Given the description of an element on the screen output the (x, y) to click on. 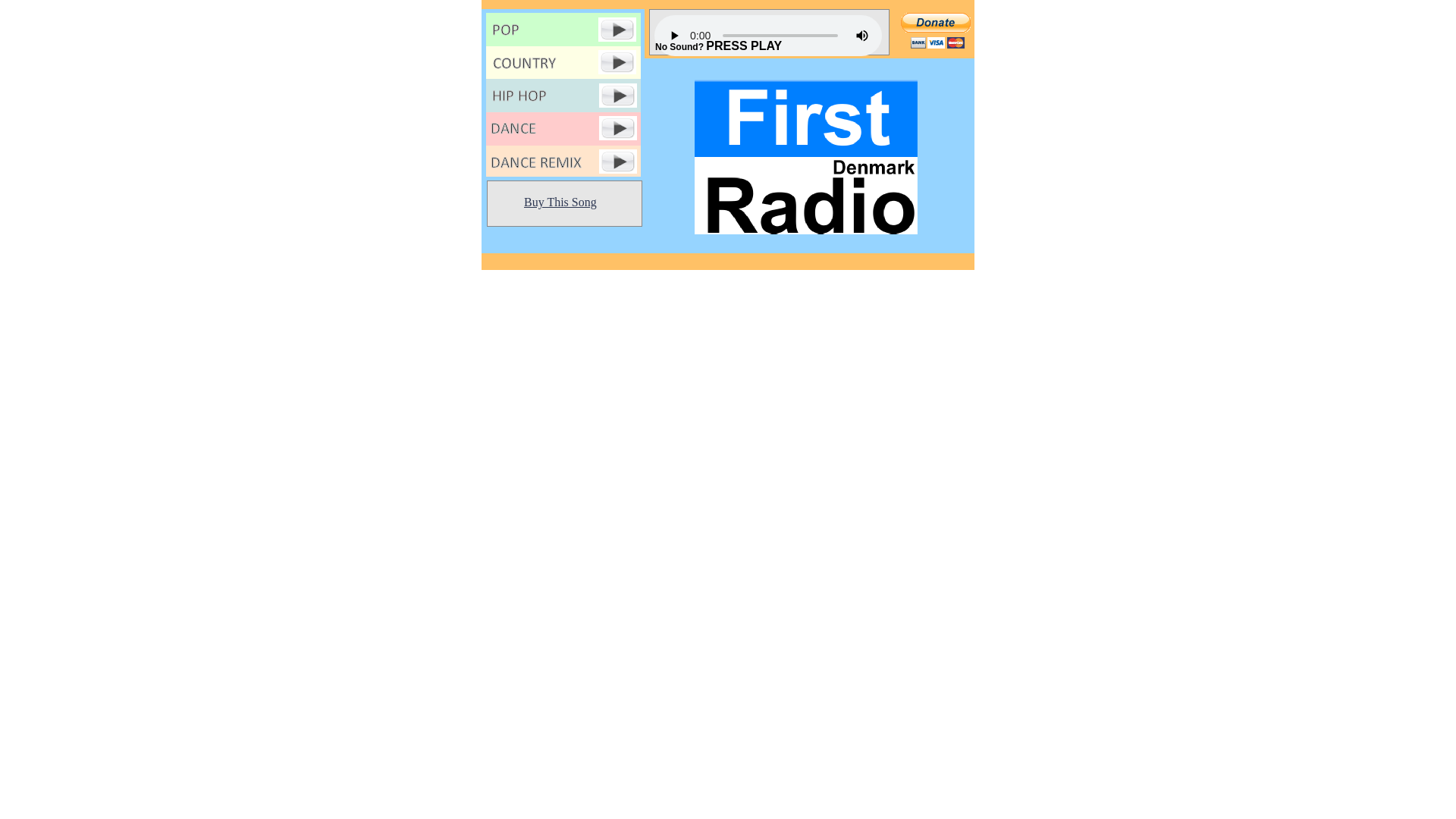
Buy This Song Element type: text (560, 201)
